Given the description of an element on the screen output the (x, y) to click on. 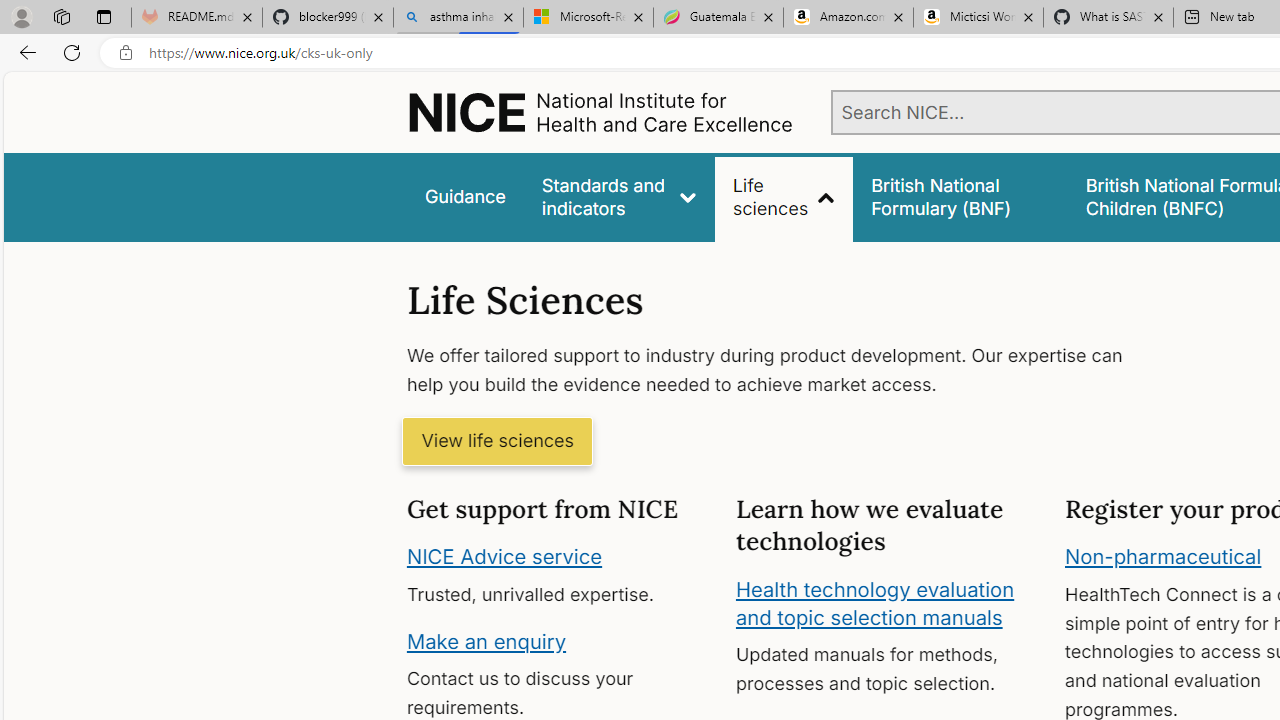
Non-pharmaceutical (1163, 557)
NICE Advice service (503, 557)
Guidance (464, 196)
